Given the description of an element on the screen output the (x, y) to click on. 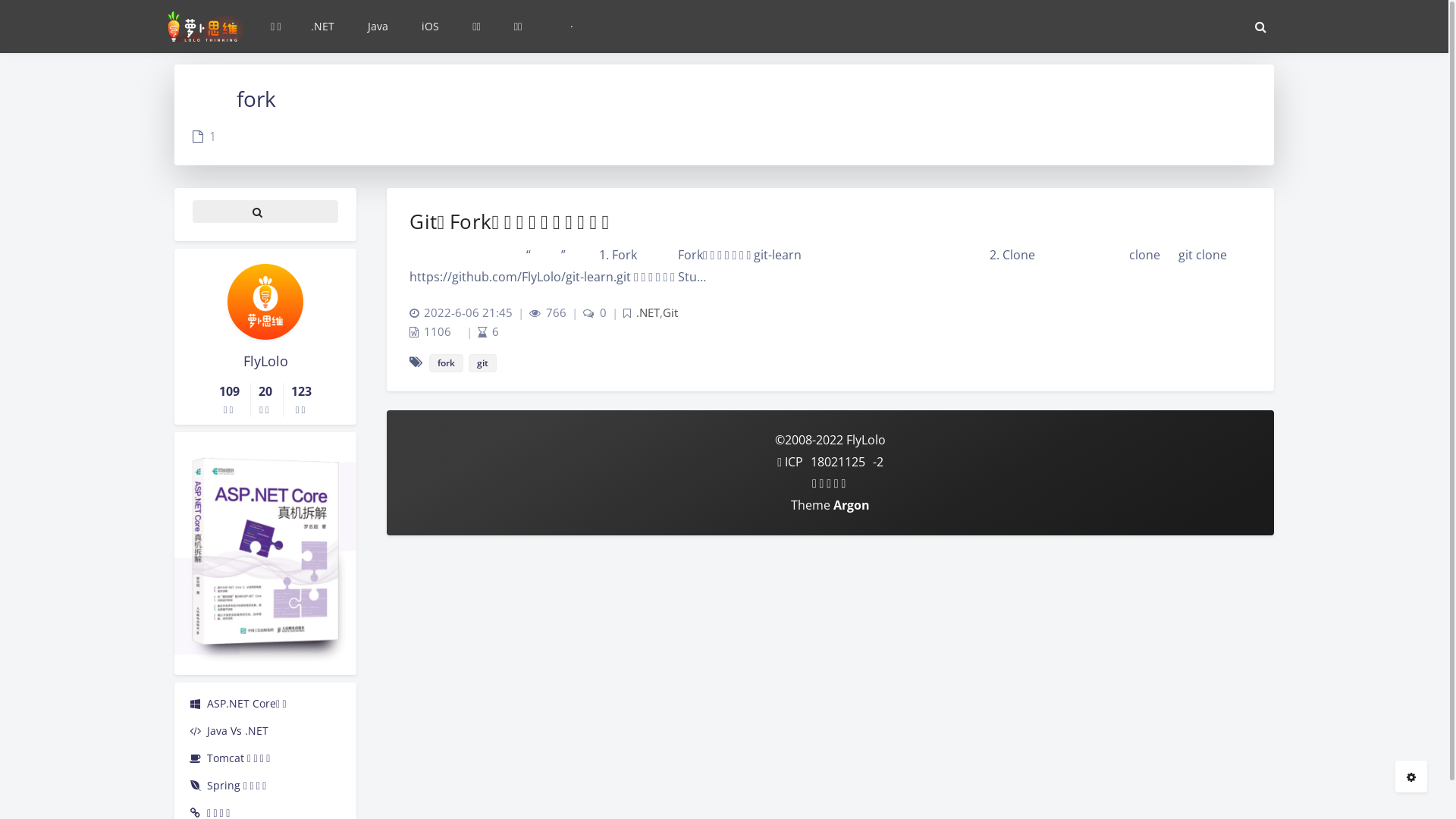
Java Vs .NET Element type: text (265, 730)
Java Element type: text (376, 26)
Argon Element type: text (851, 504)
iOS Element type: text (428, 26)
git Element type: text (482, 363)
Git Element type: text (669, 312)
.NET Element type: text (320, 26)
fork Element type: text (446, 363)
.NET Element type: text (647, 312)
